Given the description of an element on the screen output the (x, y) to click on. 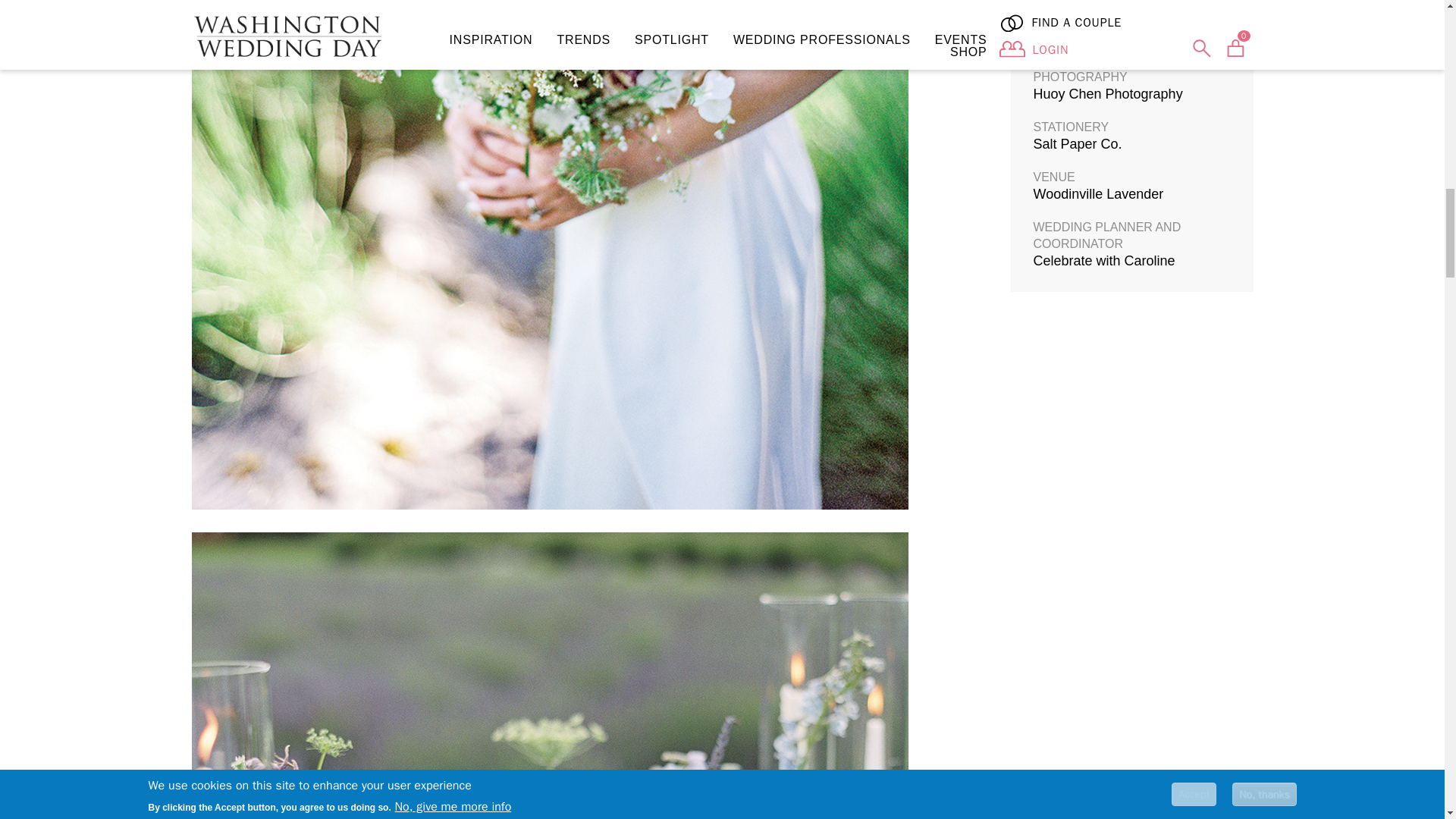
Woodinville Lavender (1097, 193)
Lisa (1045, 43)
Celebrate with Caroline (1103, 260)
Salt Paper Co. (1076, 143)
Bill Quach (1063, 0)
